Given the description of an element on the screen output the (x, y) to click on. 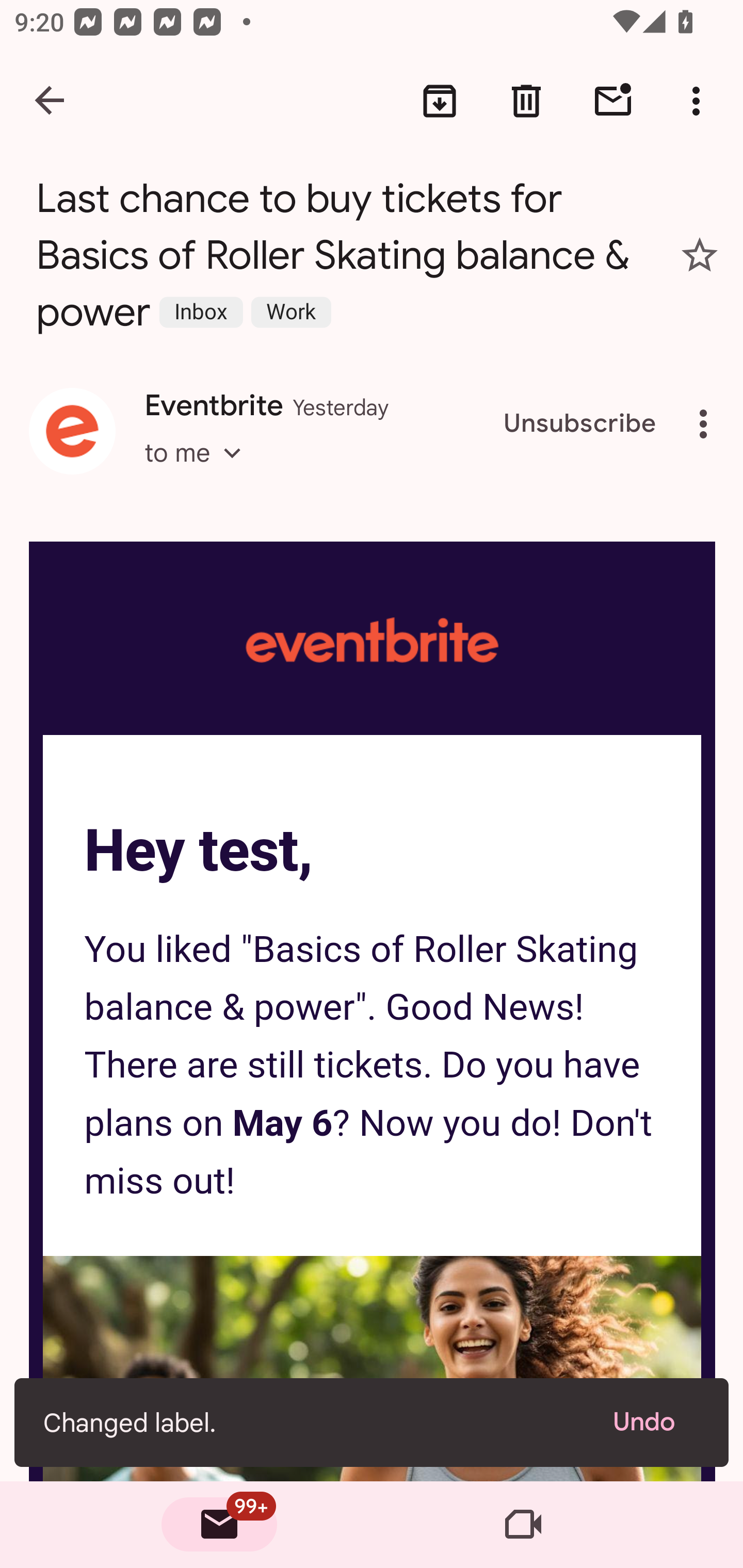
Navigate up (50, 101)
Archive (439, 101)
Delete (525, 101)
Mark unread (612, 101)
More options (699, 101)
Add star (699, 254)
Unsubscribe (579, 424)
More options (706, 424)
Show contact information for Eventbrite (71, 431)
to me (199, 471)
Undo (655, 1422)
Meet (523, 1524)
